Given the description of an element on the screen output the (x, y) to click on. 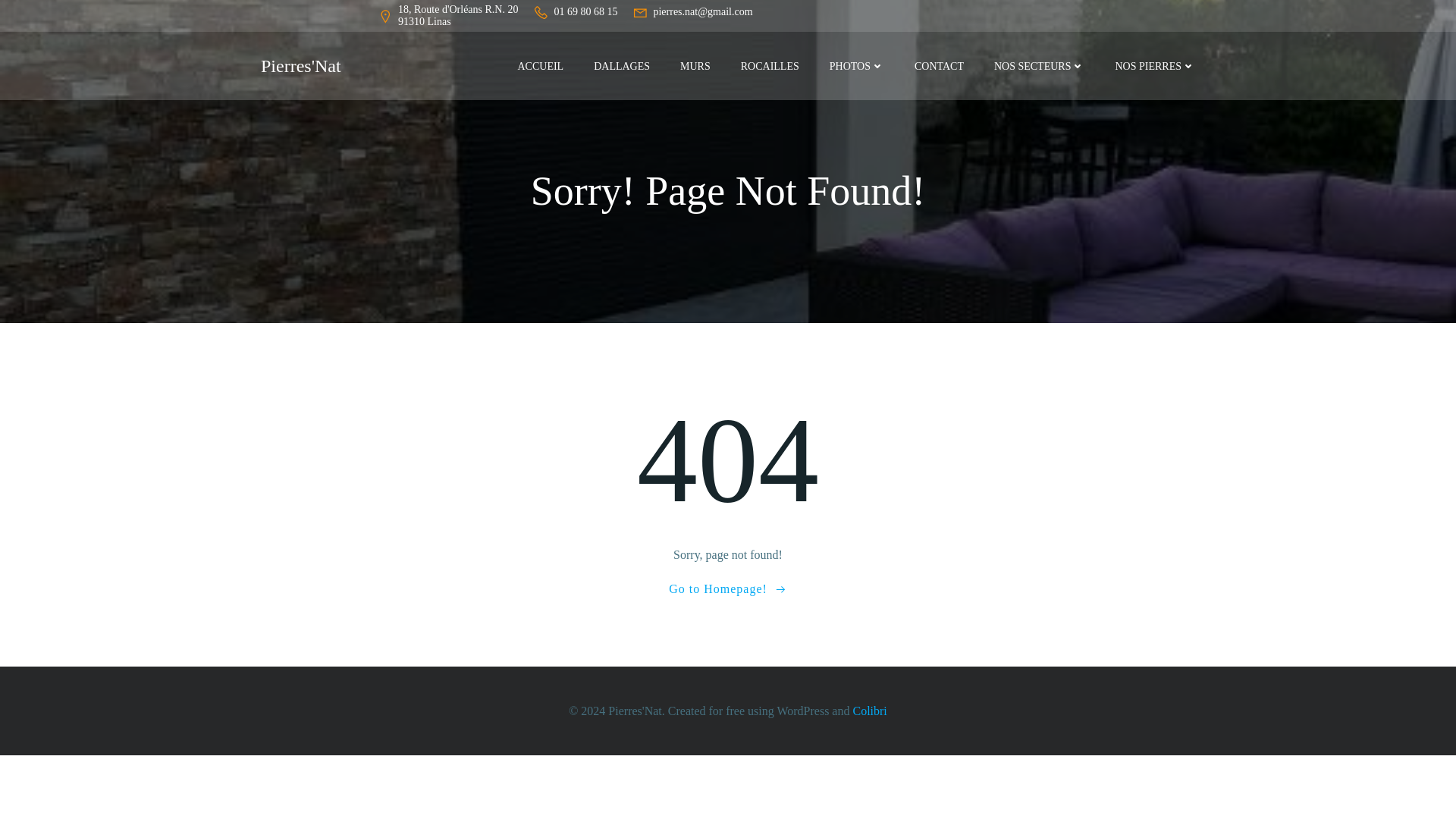
PHOTOS (856, 65)
Colibri (868, 709)
ROCAILLES (770, 65)
MURS (694, 65)
NOS SECTEURS (1039, 65)
CONTACT (938, 65)
01 69 80 68 15 (574, 15)
Pierres'Nat (300, 65)
NOS PIERRES (1155, 65)
Go to Homepage! (727, 588)
